Given the description of an element on the screen output the (x, y) to click on. 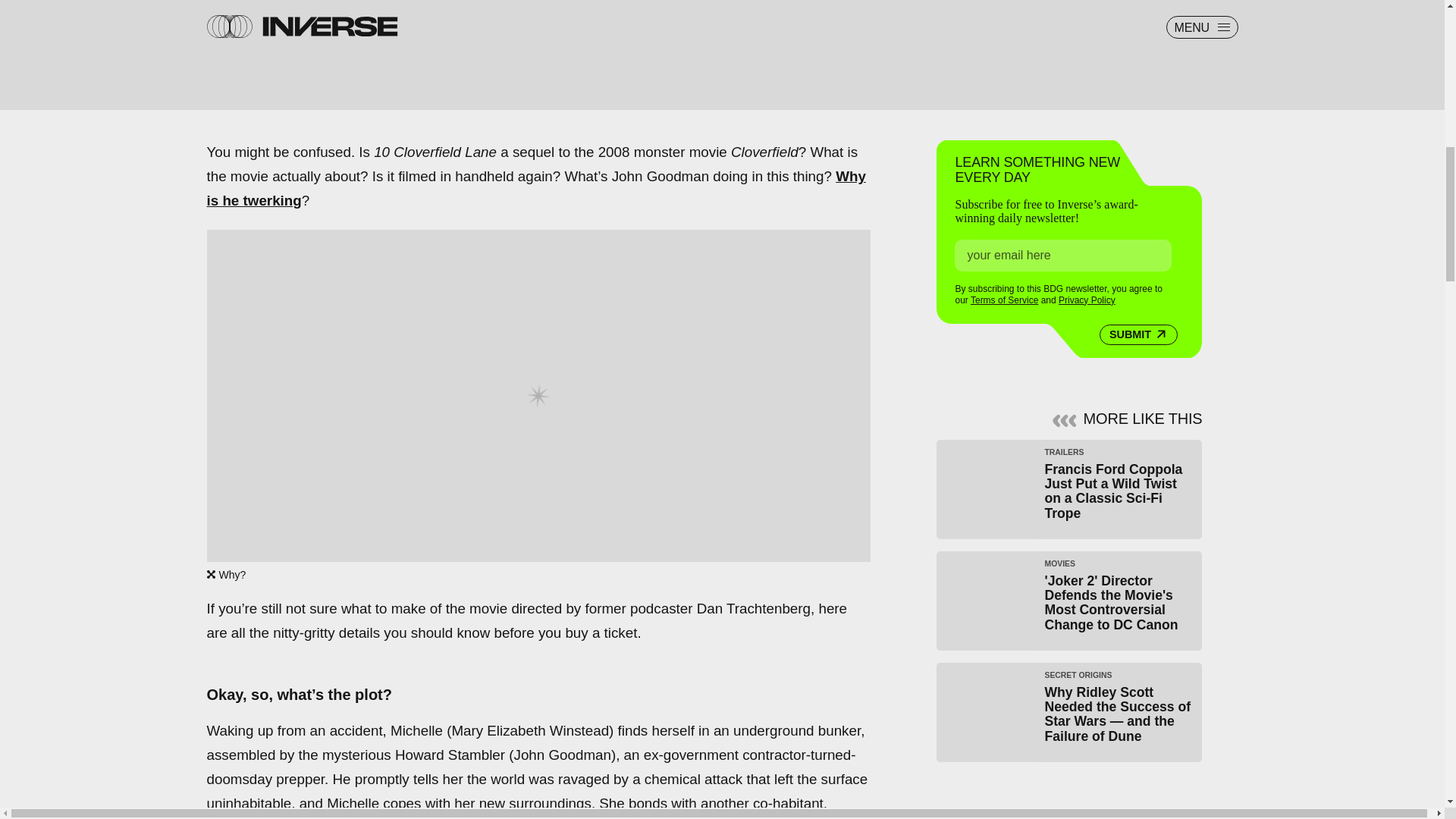
Privacy Policy (1086, 299)
SUBMIT (1138, 334)
Terms of Service (1004, 299)
Why is he twerking (535, 188)
